Given the description of an element on the screen output the (x, y) to click on. 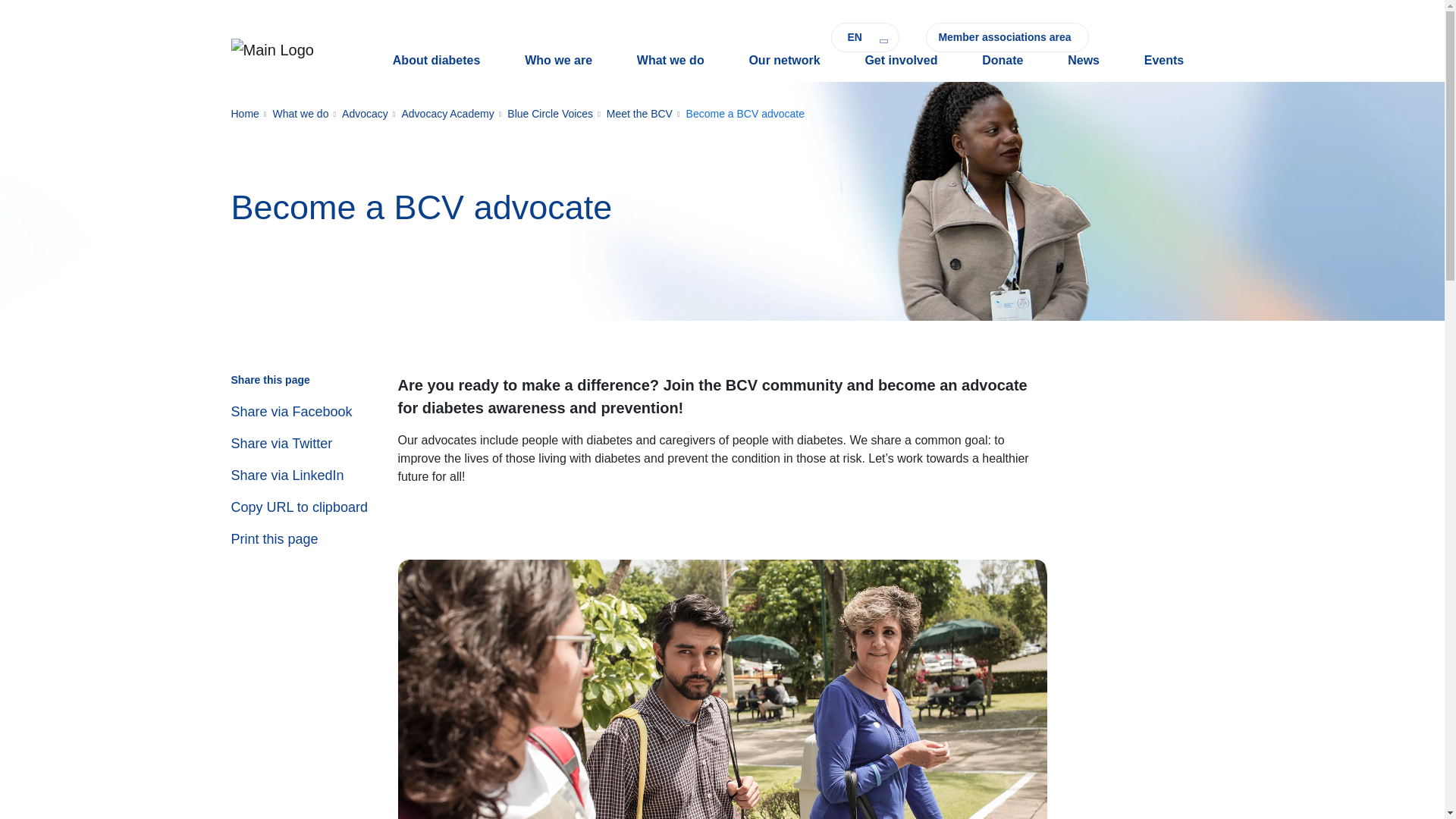
Who we are (558, 60)
About diabetes (435, 60)
Member associations area (1006, 37)
What we do (670, 60)
